Given the description of an element on the screen output the (x, y) to click on. 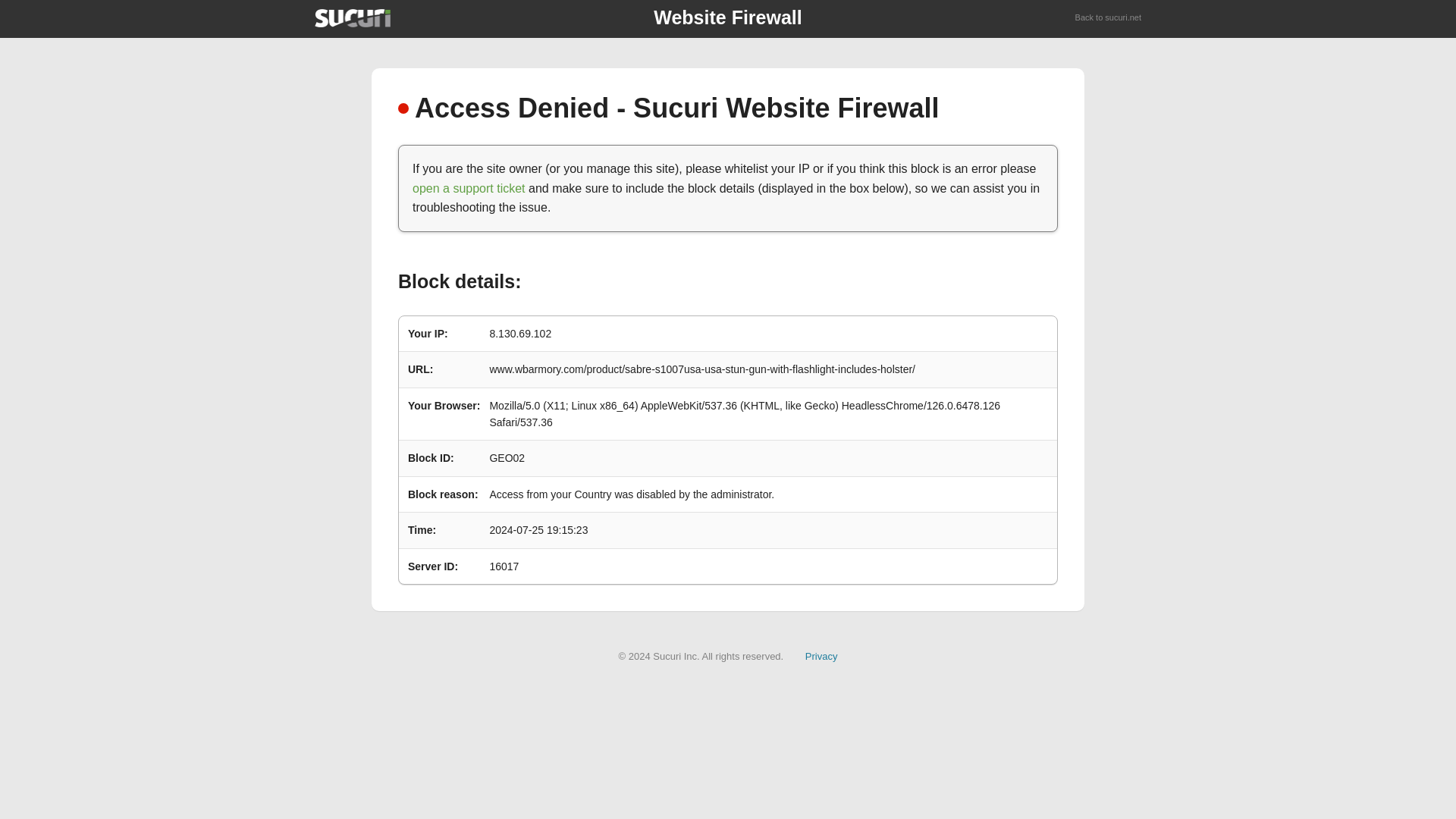
Back to sucuri.net (1108, 18)
Privacy (821, 655)
open a support ticket (468, 187)
